Given the description of an element on the screen output the (x, y) to click on. 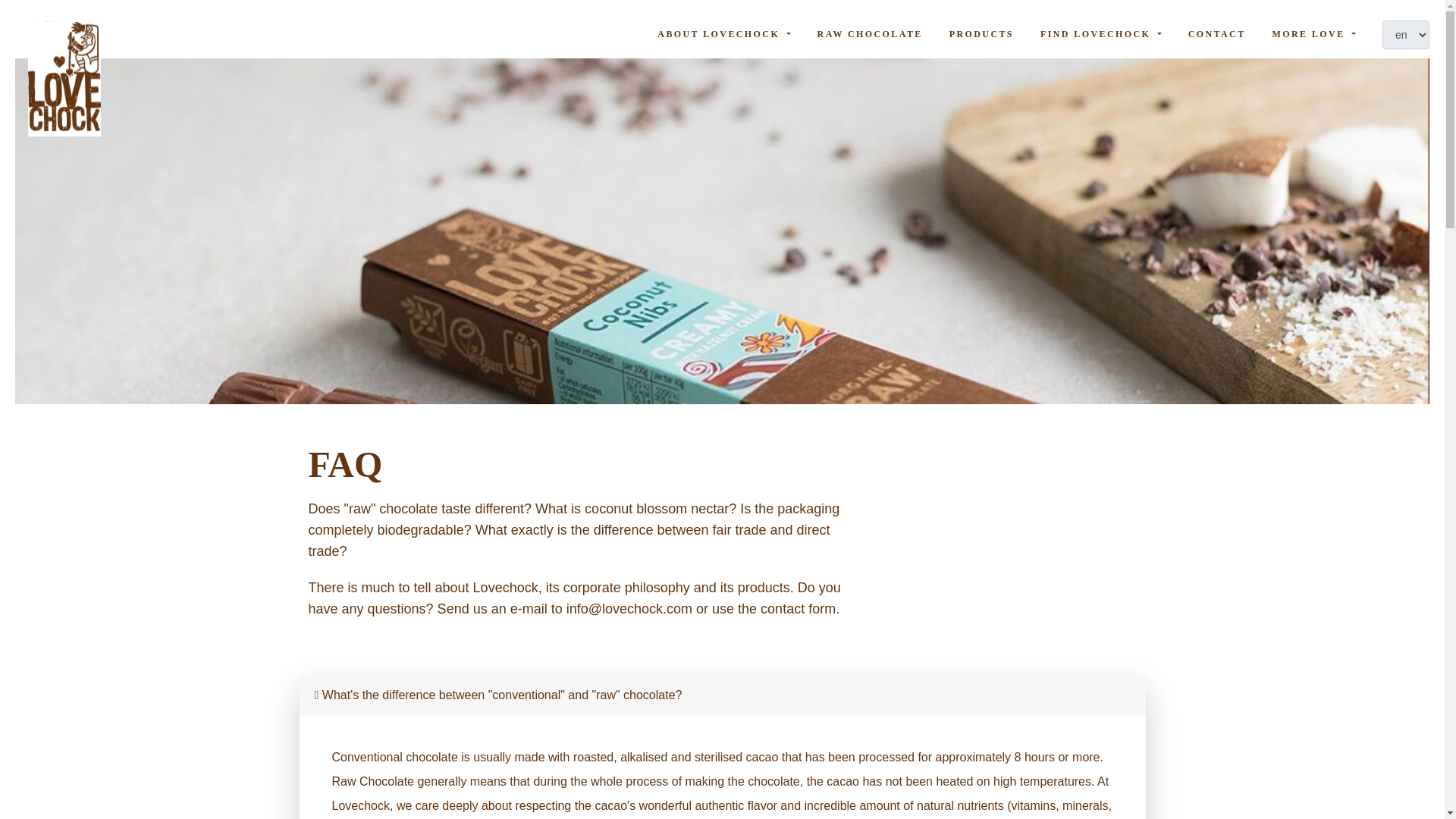
FIND LOVECHOCK (1101, 34)
CONTACT (1217, 34)
PRODUCTS (981, 34)
ABOUT LOVECHOCK (724, 34)
RAW CHOCOLATE (869, 34)
MORE LOVE (1313, 34)
